Given the description of an element on the screen output the (x, y) to click on. 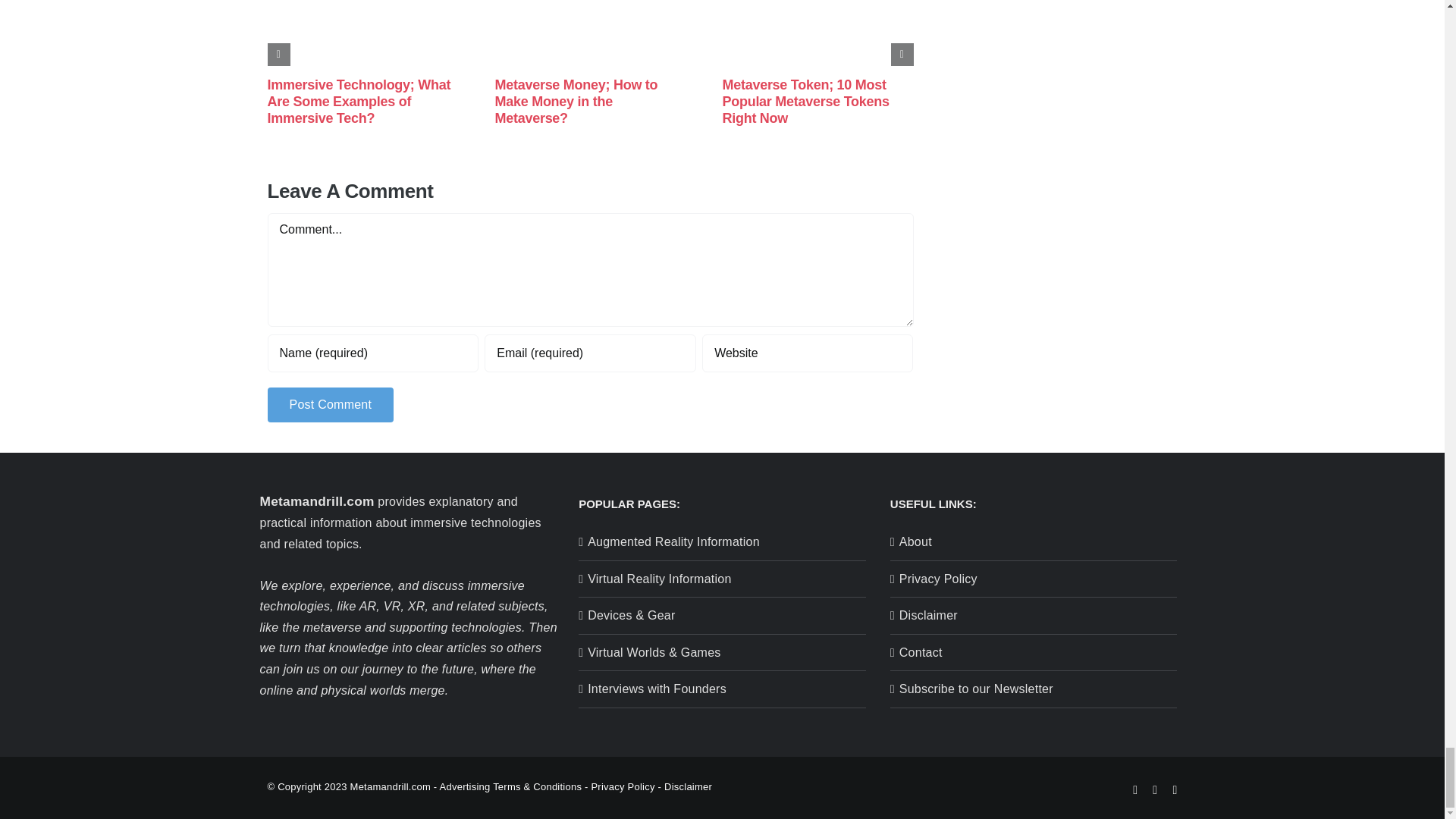
Post Comment (329, 404)
